Given the description of an element on the screen output the (x, y) to click on. 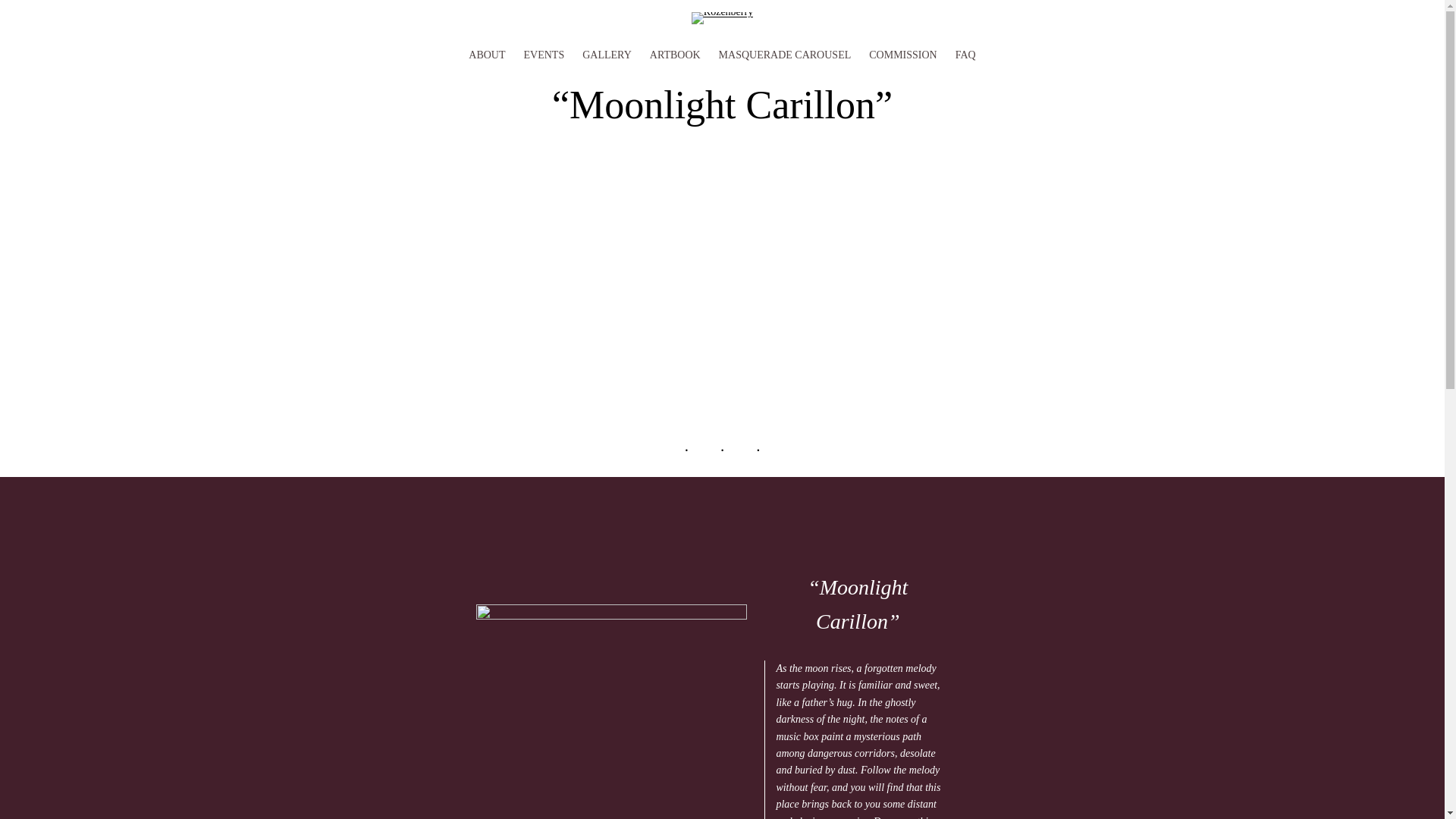
ABOUT (486, 54)
ARTBOOK (674, 54)
GALLERY (606, 54)
MASQUERADE CAROUSEL (785, 54)
COMMISSION (902, 54)
FAQ (965, 54)
EVENTS (544, 54)
